Given the description of an element on the screen output the (x, y) to click on. 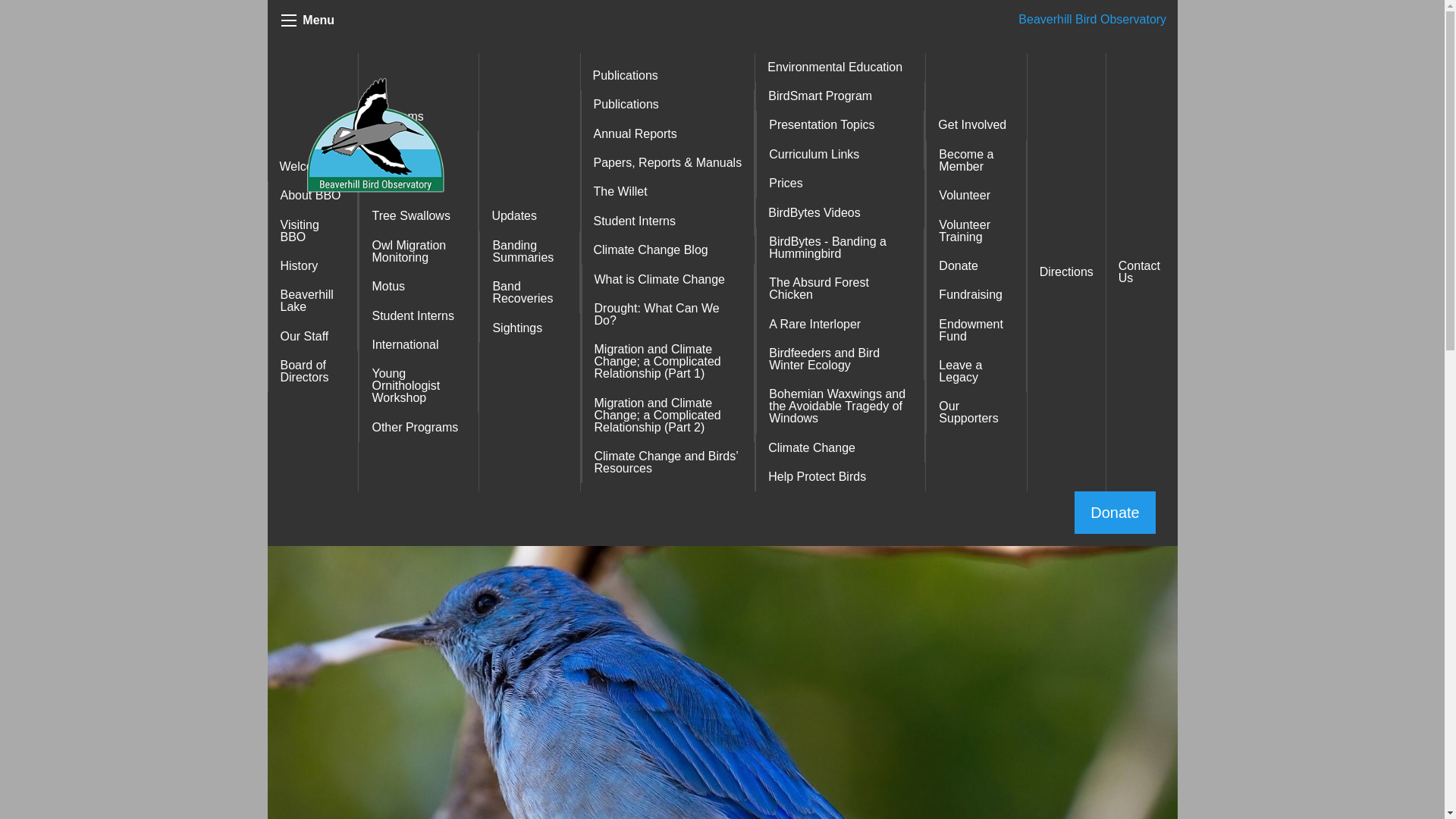
The Willet (667, 191)
History (312, 265)
Young Ornithologist Workshop (418, 385)
Curriculum Links (840, 154)
About BBO (312, 194)
Tree Swallows (418, 215)
Climate Change Blog (667, 249)
Migration Monitoring (418, 151)
Band Recoveries (529, 291)
Publications (667, 104)
International (418, 344)
Publications (667, 75)
Welcome (312, 166)
Board of Directors (312, 371)
BirdSmart Program (839, 95)
